Given the description of an element on the screen output the (x, y) to click on. 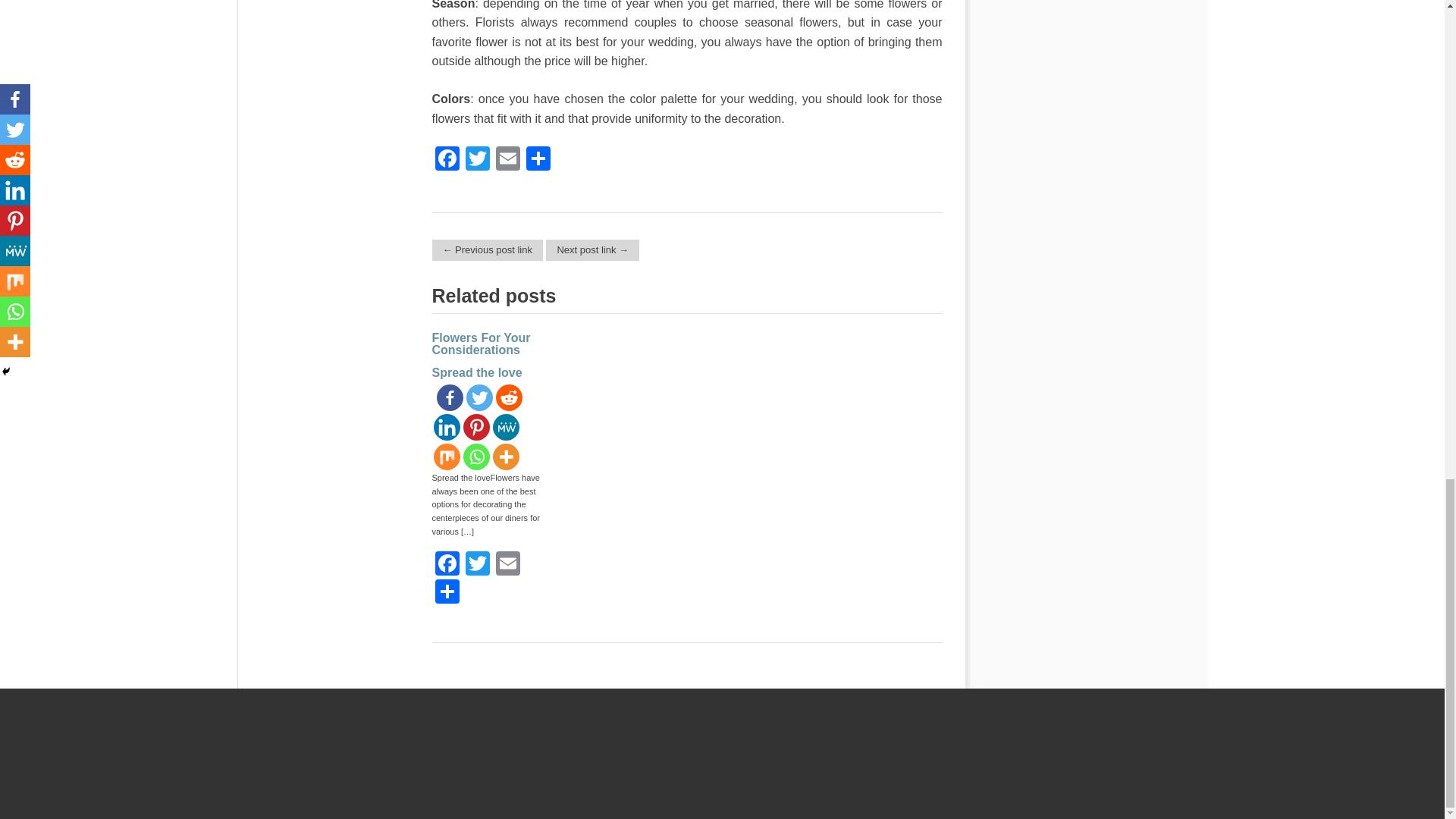
Twitter (478, 160)
Email (507, 160)
Facebook (447, 160)
Email (507, 160)
Facebook (447, 160)
Twitter (478, 160)
